Given the description of an element on the screen output the (x, y) to click on. 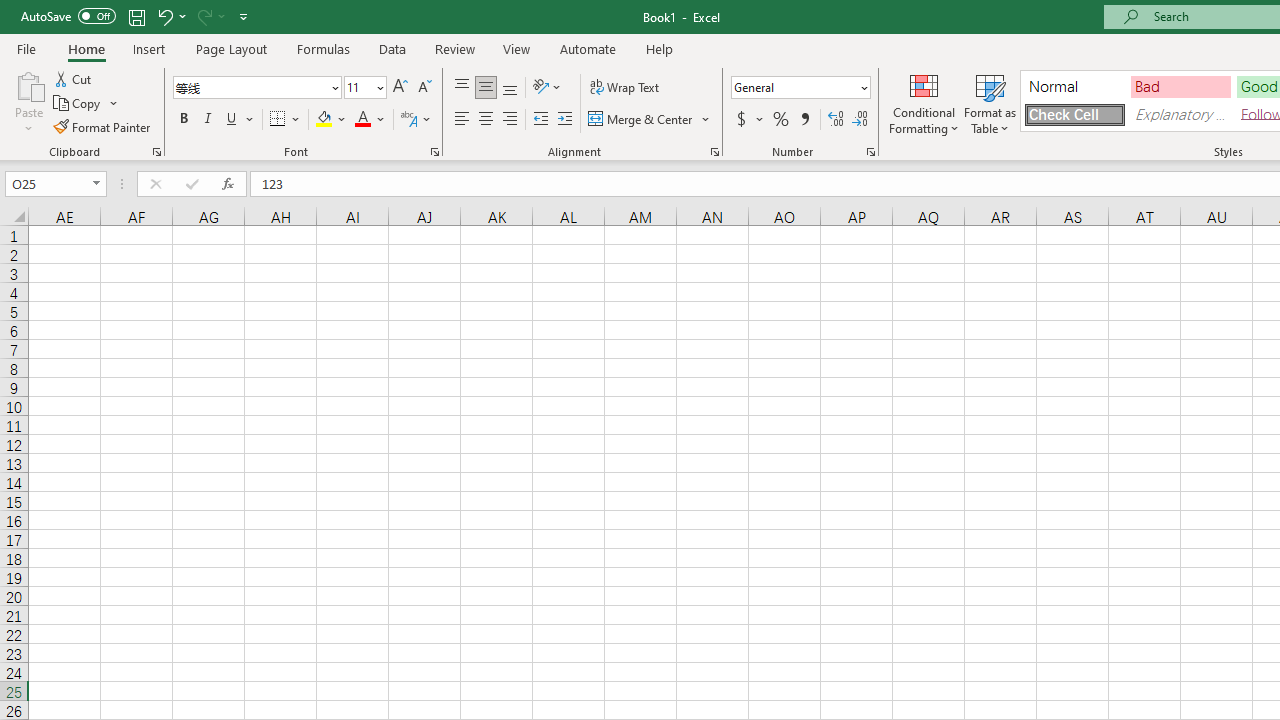
Format Cell Number (870, 151)
Copy (85, 103)
Show Phonetic Field (408, 119)
Borders (285, 119)
Font Color (370, 119)
Wrap Text (624, 87)
Format Cell Font (434, 151)
